Given the description of an element on the screen output the (x, y) to click on. 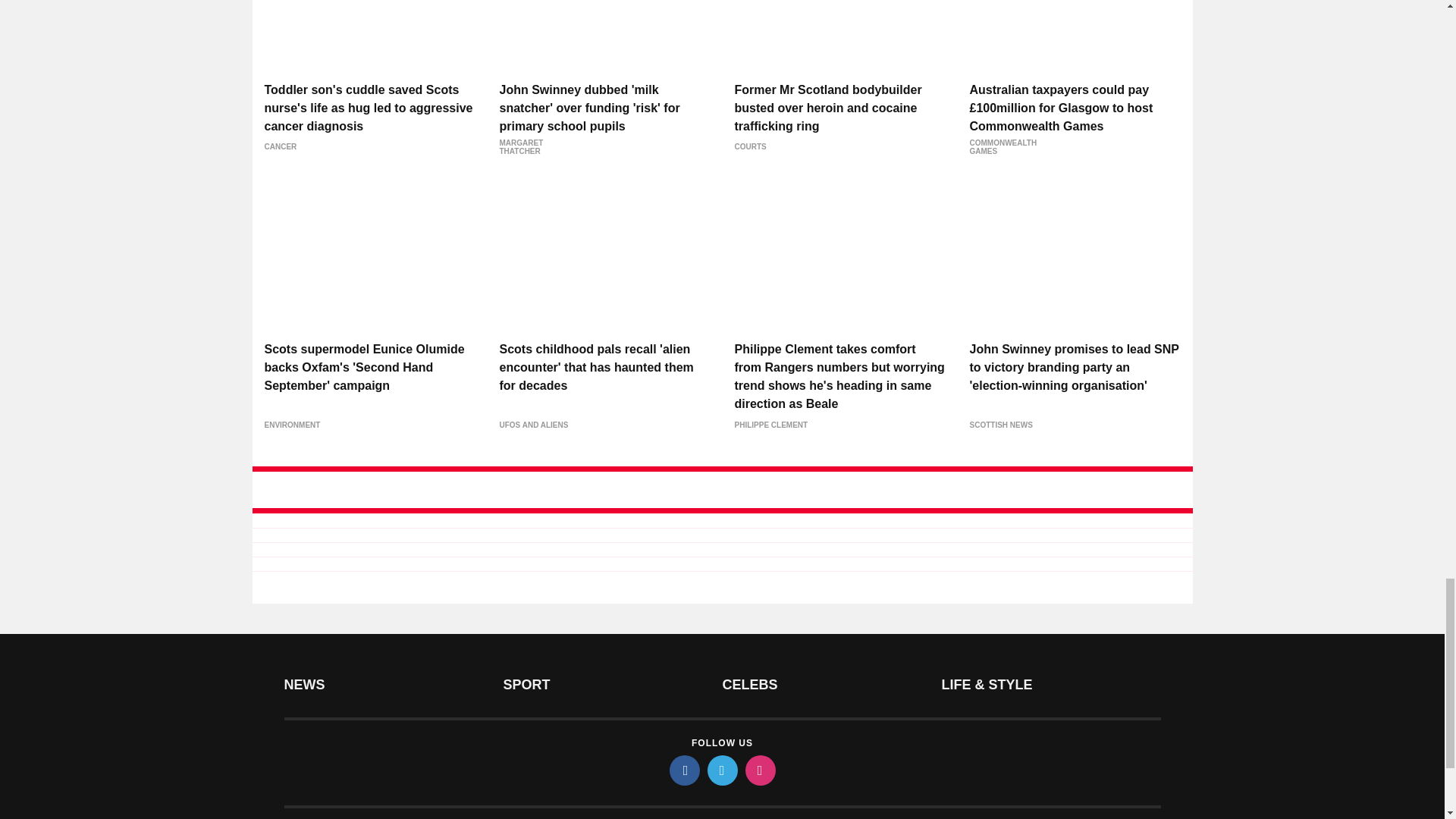
twitter (721, 770)
facebook (683, 770)
instagram (759, 770)
